Given the description of an element on the screen output the (x, y) to click on. 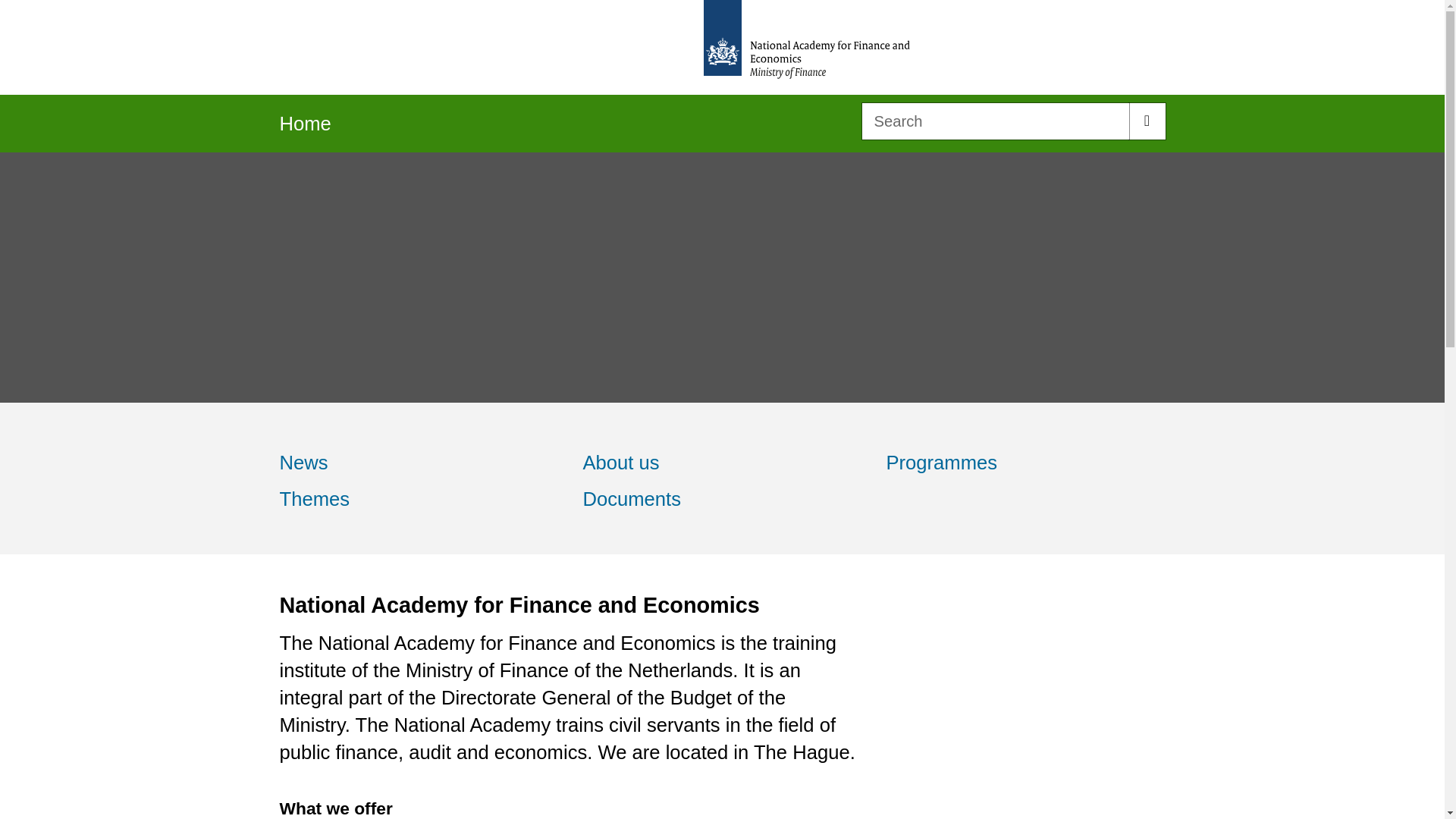
Home (304, 128)
News (418, 463)
Documents (721, 499)
Themes (418, 499)
Programmes (1024, 463)
Start search (1146, 121)
About us (721, 463)
Search (1146, 121)
Enter search terms here (995, 121)
